Given the description of an element on the screen output the (x, y) to click on. 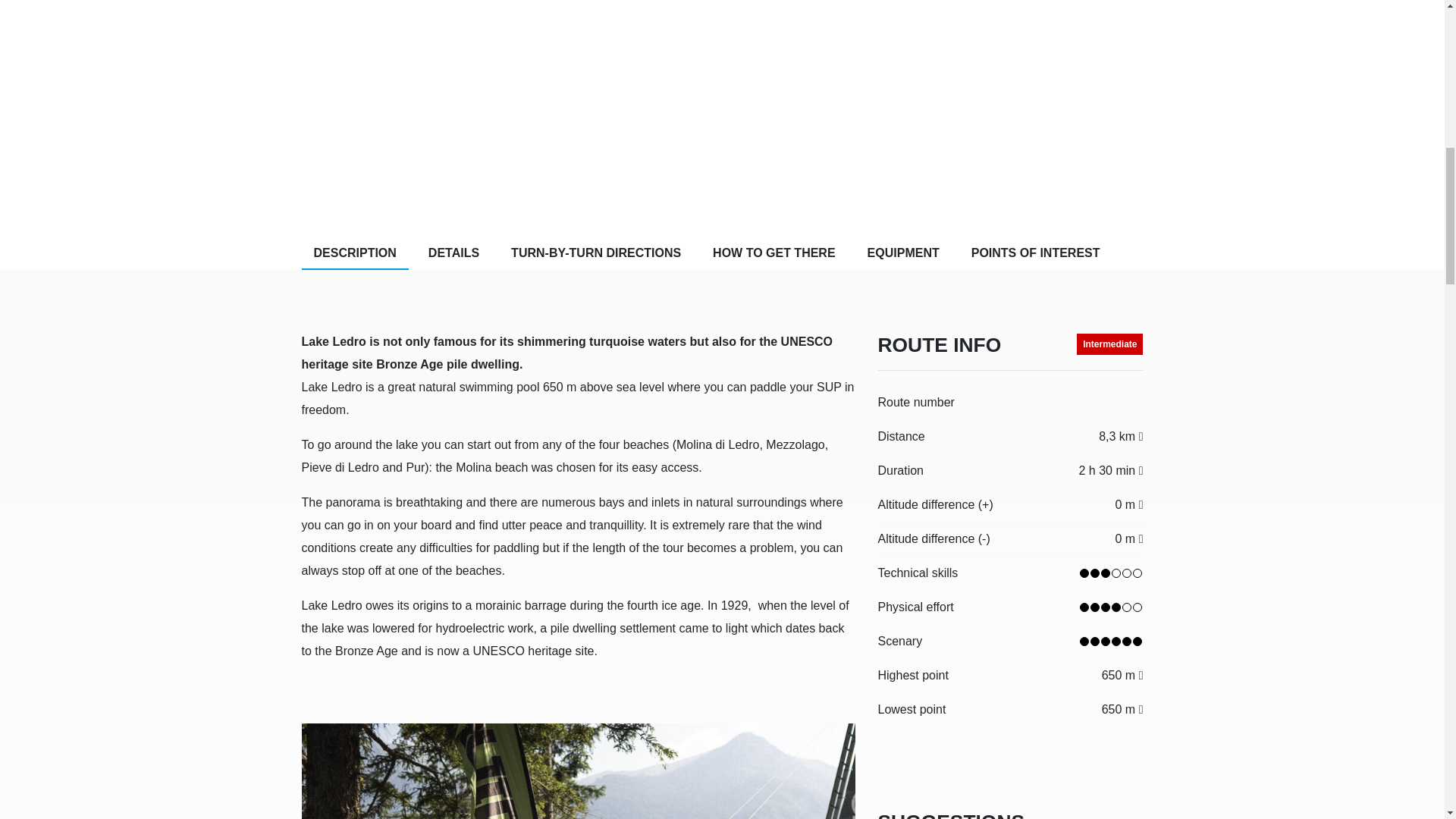
DESCRIPTION (355, 254)
DETAILS (454, 254)
TURN-BY-TURN DIRECTIONS (596, 254)
EQUIPMENT (904, 254)
POINTS OF INTEREST (1035, 254)
HOW TO GET THERE (773, 254)
